Given the description of an element on the screen output the (x, y) to click on. 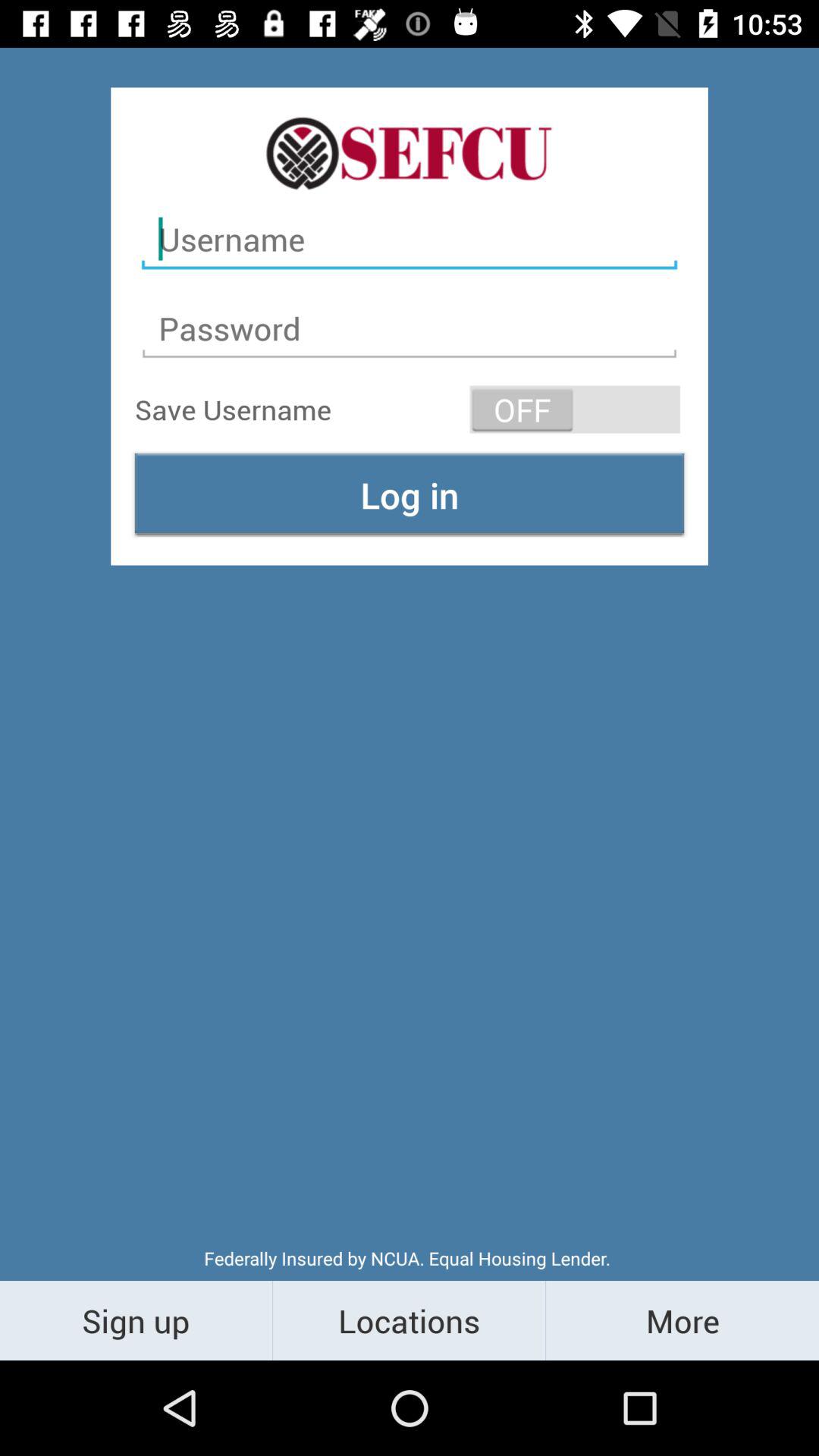
jump to log in item (409, 494)
